Given the description of an element on the screen output the (x, y) to click on. 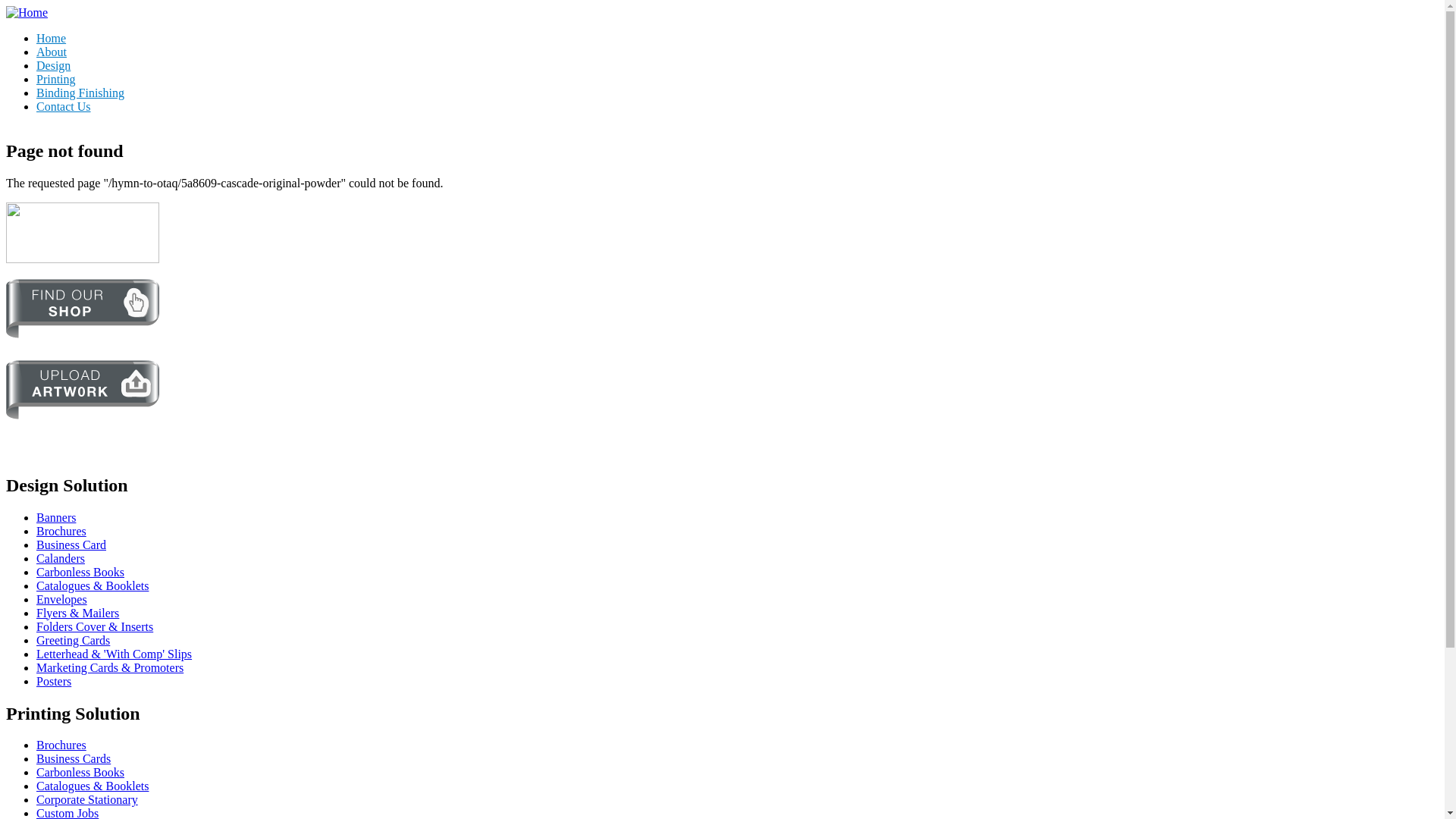
Binding Finishing Element type: text (737, 93)
Brochures Element type: text (61, 744)
Business Card Element type: text (71, 544)
Folders Cover & Inserts Element type: text (94, 626)
Design Element type: text (737, 65)
Carbonless Books Element type: text (80, 571)
Banners Element type: text (55, 517)
Envelopes Element type: text (61, 599)
Printing Element type: text (737, 79)
Catalogues & Booklets Element type: text (92, 785)
Corporate Stationary Element type: text (87, 799)
Letterhead & 'With Comp' Slips Element type: text (113, 653)
About Element type: text (737, 52)
Business Cards Element type: text (73, 758)
Posters Element type: text (53, 680)
Greeting Cards Element type: text (72, 639)
Contact Us Element type: text (737, 106)
Home Element type: text (737, 38)
Skip to main content Element type: text (56, 6)
Marketing Cards & Promoters Element type: text (109, 667)
Catalogues & Booklets Element type: text (92, 585)
Flyers & Mailers Element type: text (77, 612)
Calanders Element type: text (60, 558)
Carbonless Books Element type: text (80, 771)
Brochures Element type: text (61, 530)
Home Element type: hover (26, 12)
